Given the description of an element on the screen output the (x, y) to click on. 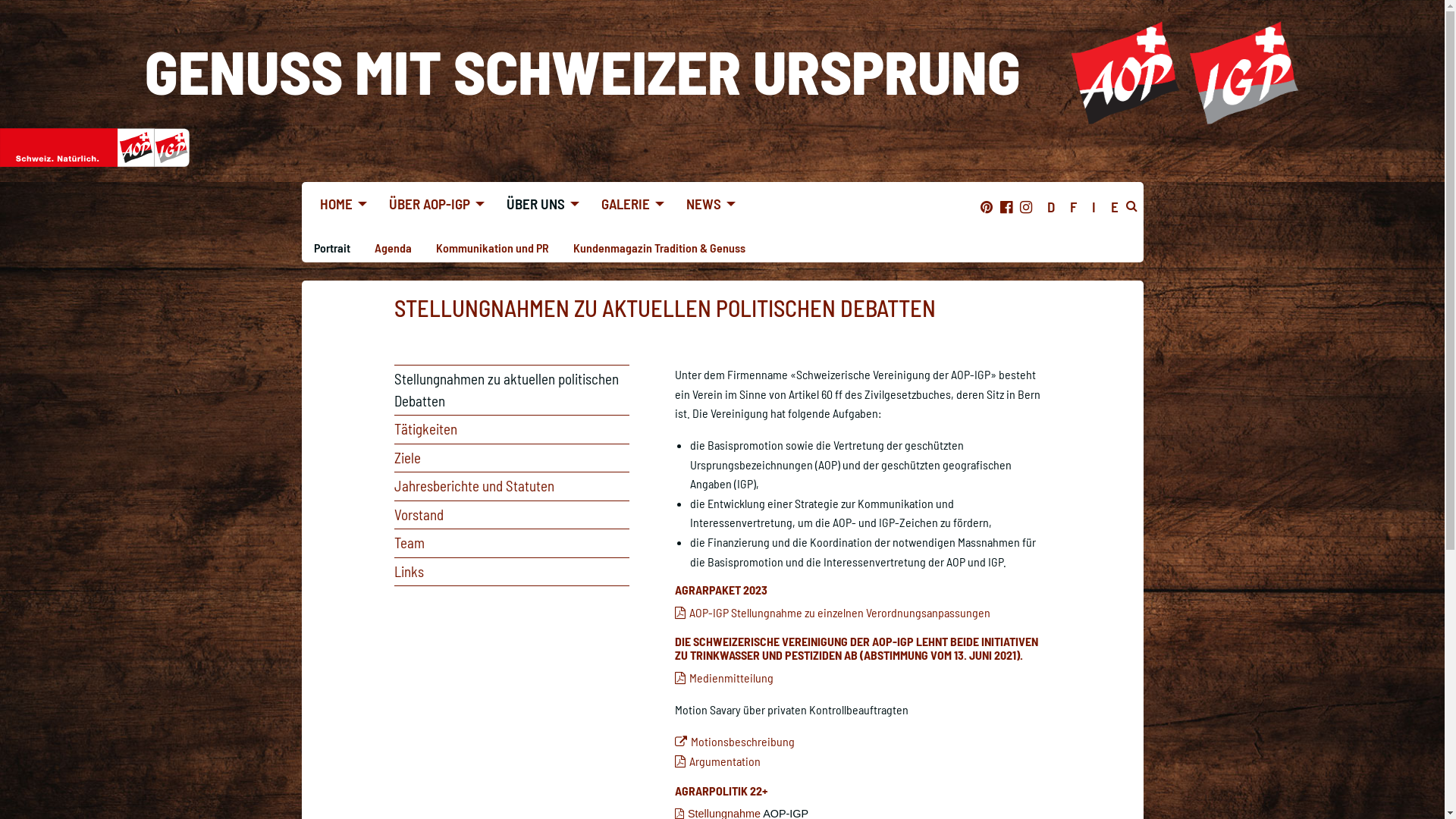
Links Element type: text (511, 572)
Motionsbeschreibung Element type: text (734, 741)
Kommunikation und PR Element type: text (491, 246)
Portrait Element type: text (331, 246)
Jahresberichte und Statuten Element type: text (511, 486)
GALERIE Element type: text (627, 203)
HOME Element type: text (338, 203)
NEWS Element type: text (705, 203)
Kundenmagazin Tradition & Genuss Element type: text (659, 246)
Argumentation Element type: text (717, 760)
Stellungnahmen zu aktuellen politischen Debatten Element type: text (511, 389)
I Element type: text (1093, 206)
Vorstand Element type: text (511, 515)
Team Element type: text (511, 543)
E Element type: text (1113, 206)
D Element type: text (1050, 206)
F Element type: text (1072, 206)
AOP-IGP Stellungnahme zu einzelnen Verordnungsanpassungen Element type: text (832, 612)
Medienmitteilung Element type: text (723, 677)
Ziele Element type: text (511, 458)
Agenda Element type: text (392, 246)
